Given the description of an element on the screen output the (x, y) to click on. 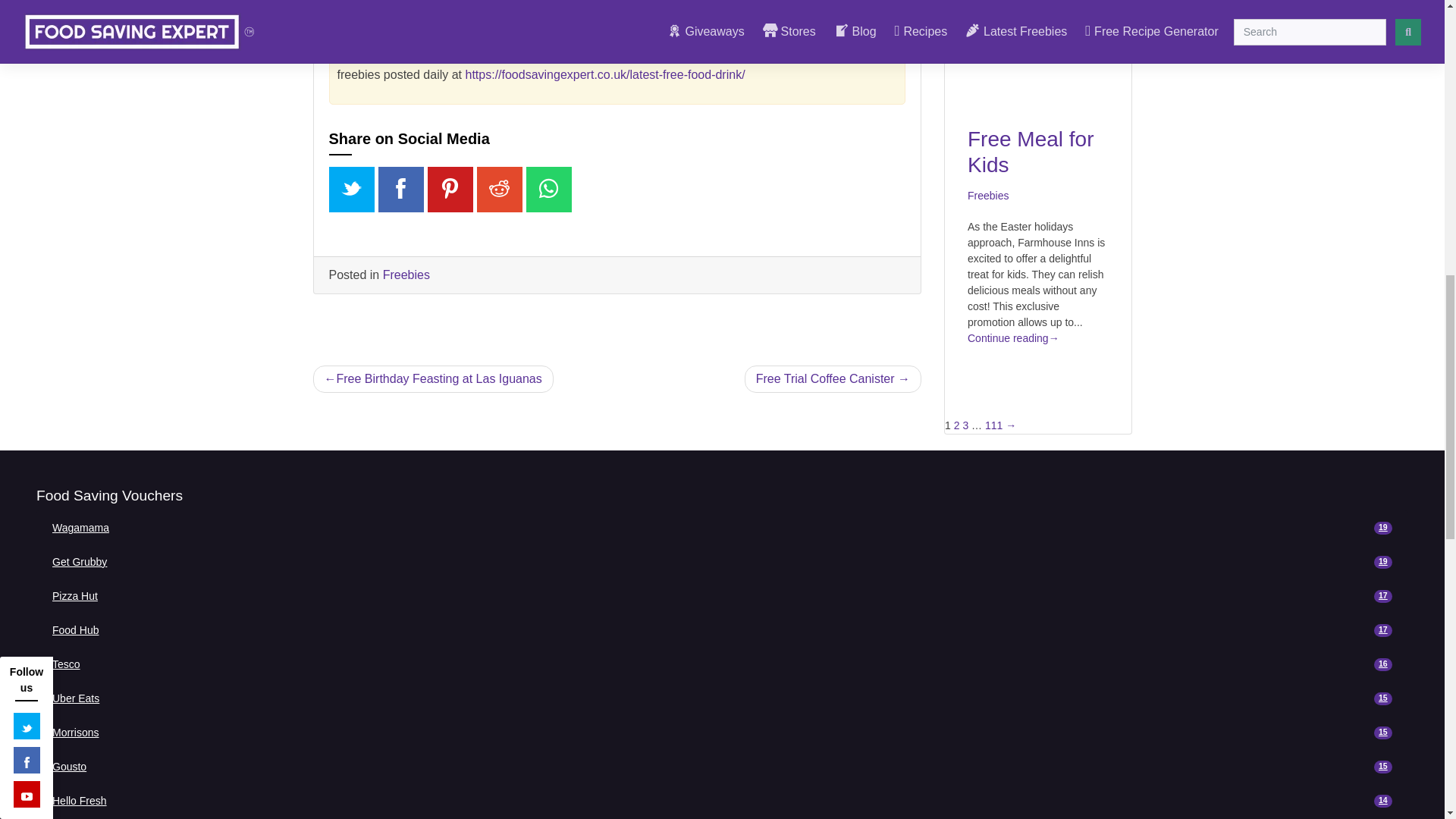
Free Birthday Feasting at Las Iguanas (433, 379)
111 (994, 425)
Freebies (988, 195)
Free Gluten Taster Box from Glutafin (721, 562)
Free Trial Coffee Canister (460, 12)
Freebies (832, 379)
Free Meal for Kids (721, 528)
